Given the description of an element on the screen output the (x, y) to click on. 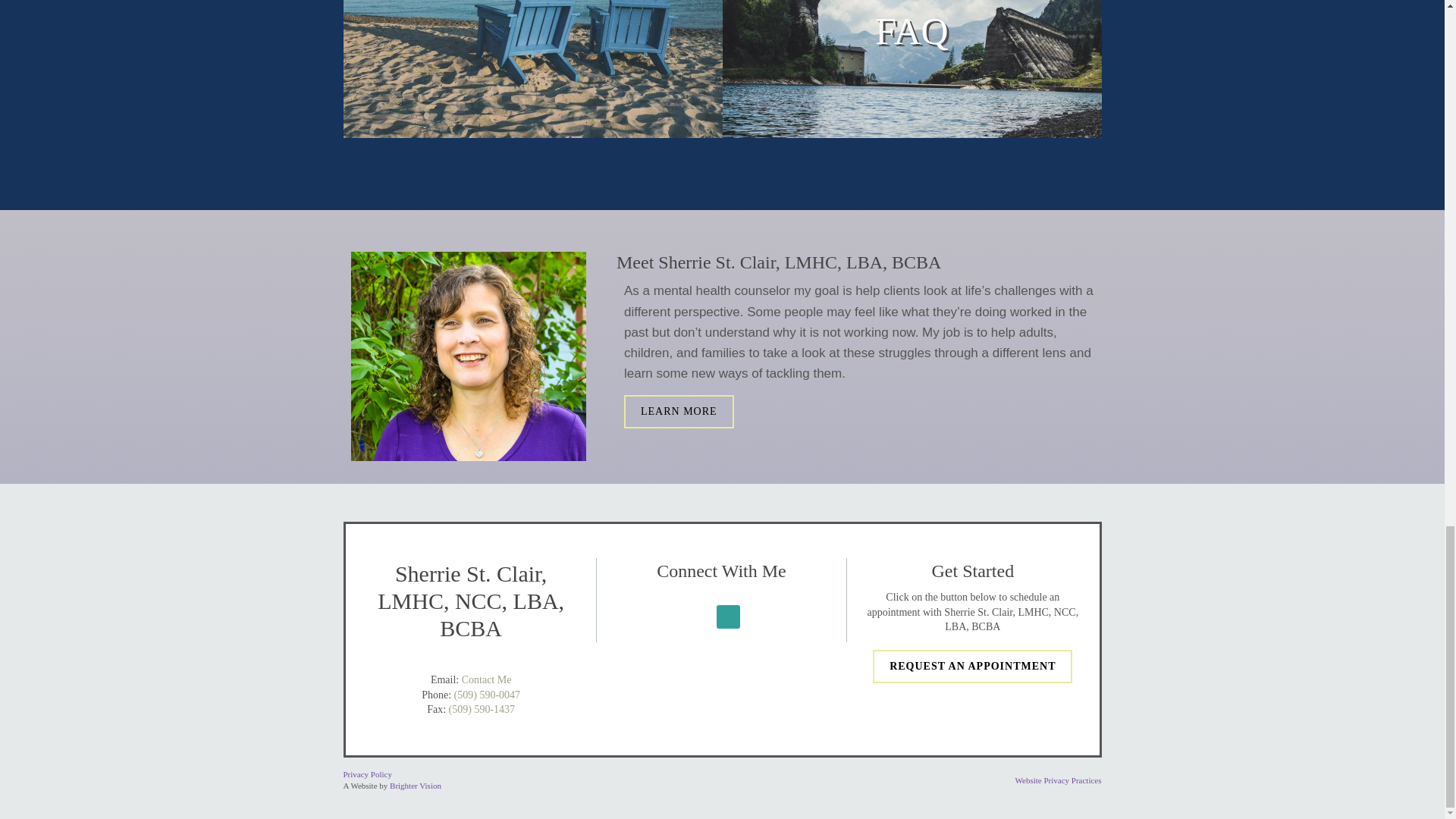
Contact Me (486, 679)
Website Privacy Practices (1058, 779)
Privacy Policy (366, 773)
LEARN MORE (678, 411)
Brighter Vision (415, 785)
Contact (532, 69)
REQUEST AN APPOINTMENT (971, 666)
FAQ (911, 69)
